Given the description of an element on the screen output the (x, y) to click on. 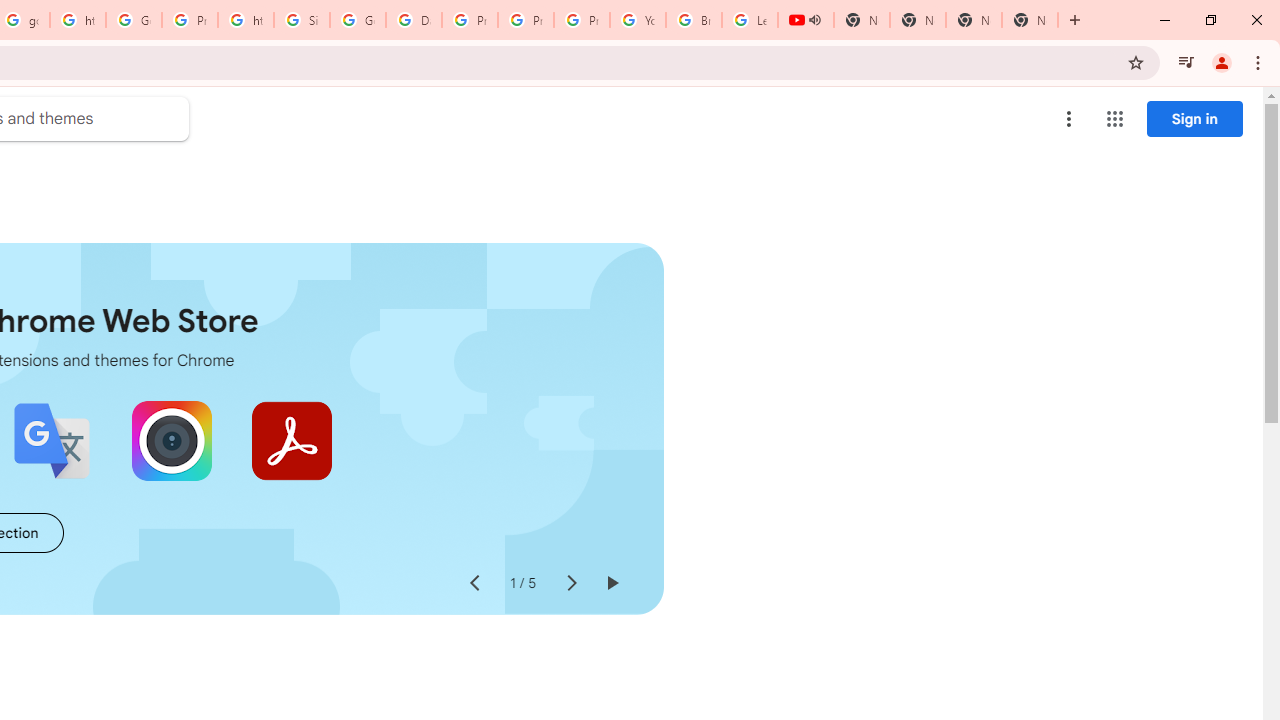
Awesome Screen Recorder & Screenshot (171, 440)
Sign in - Google Accounts (301, 20)
